Given the description of an element on the screen output the (x, y) to click on. 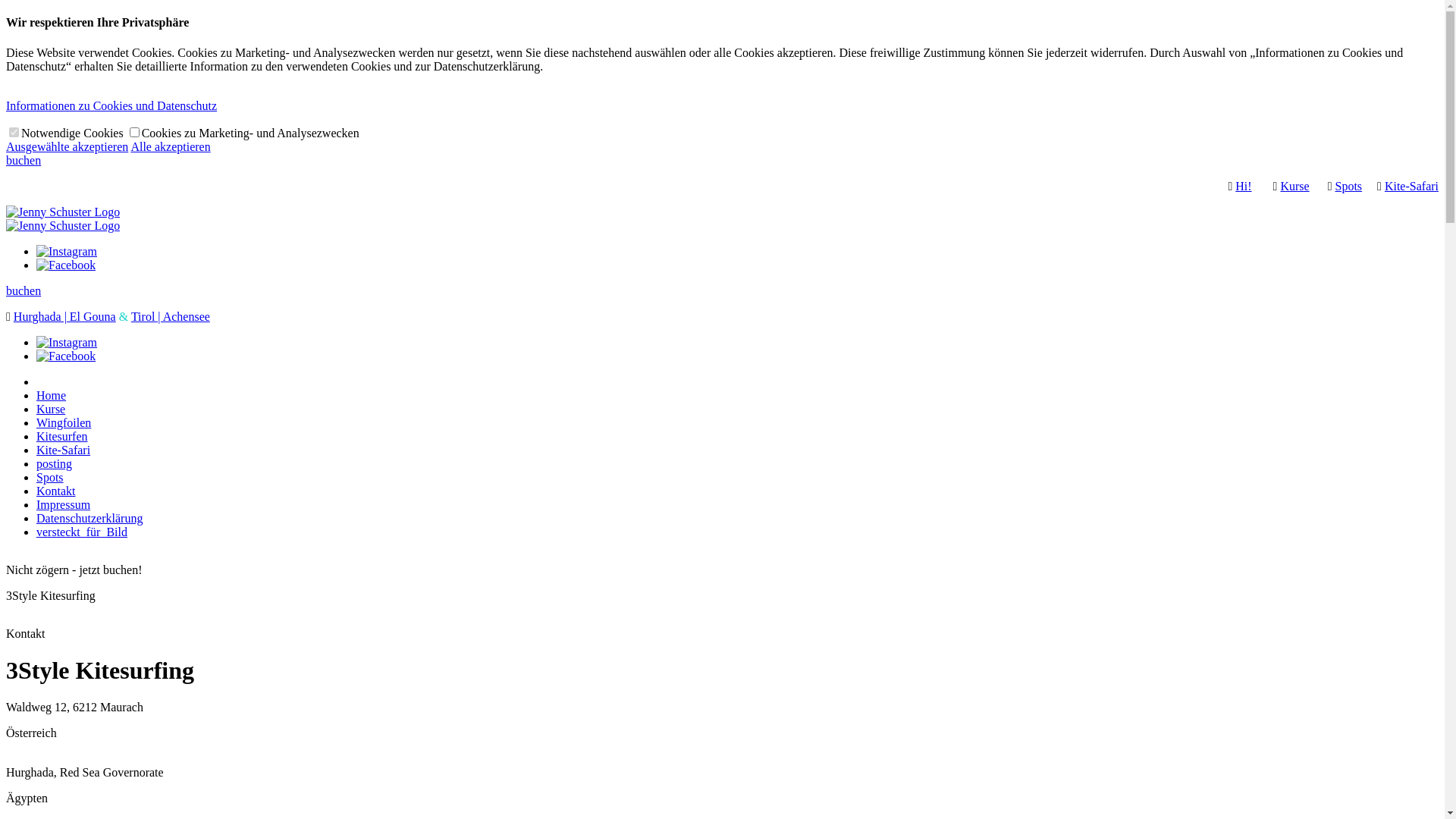
Kitesurfen Element type: text (61, 435)
Home Element type: text (50, 395)
Kontakt Element type: text (55, 490)
buchen Element type: text (23, 290)
Tirol | Achensee Element type: text (170, 316)
Kite-Safari Element type: text (63, 449)
Facebook Element type: hover (65, 355)
Impressum Element type: text (63, 504)
Instagram Element type: hover (66, 341)
Hi! Element type: text (1243, 185)
Informationen zu Cookies und Datenschutz Element type: text (111, 105)
Spots Element type: text (1347, 185)
Kurse Element type: text (50, 408)
Close Menu Element type: hover (737, 382)
Kite-Safari Element type: text (1411, 185)
Alle akzeptieren Element type: text (170, 146)
Spots Element type: text (49, 476)
Facebook Element type: hover (65, 264)
Instagram Element type: hover (66, 250)
Hurghada | El Gouna Element type: text (64, 316)
posting Element type: text (54, 463)
Wingfoilen Element type: text (63, 422)
Kurse Element type: text (1294, 185)
buchen Element type: text (23, 159)
